Given the description of an element on the screen output the (x, y) to click on. 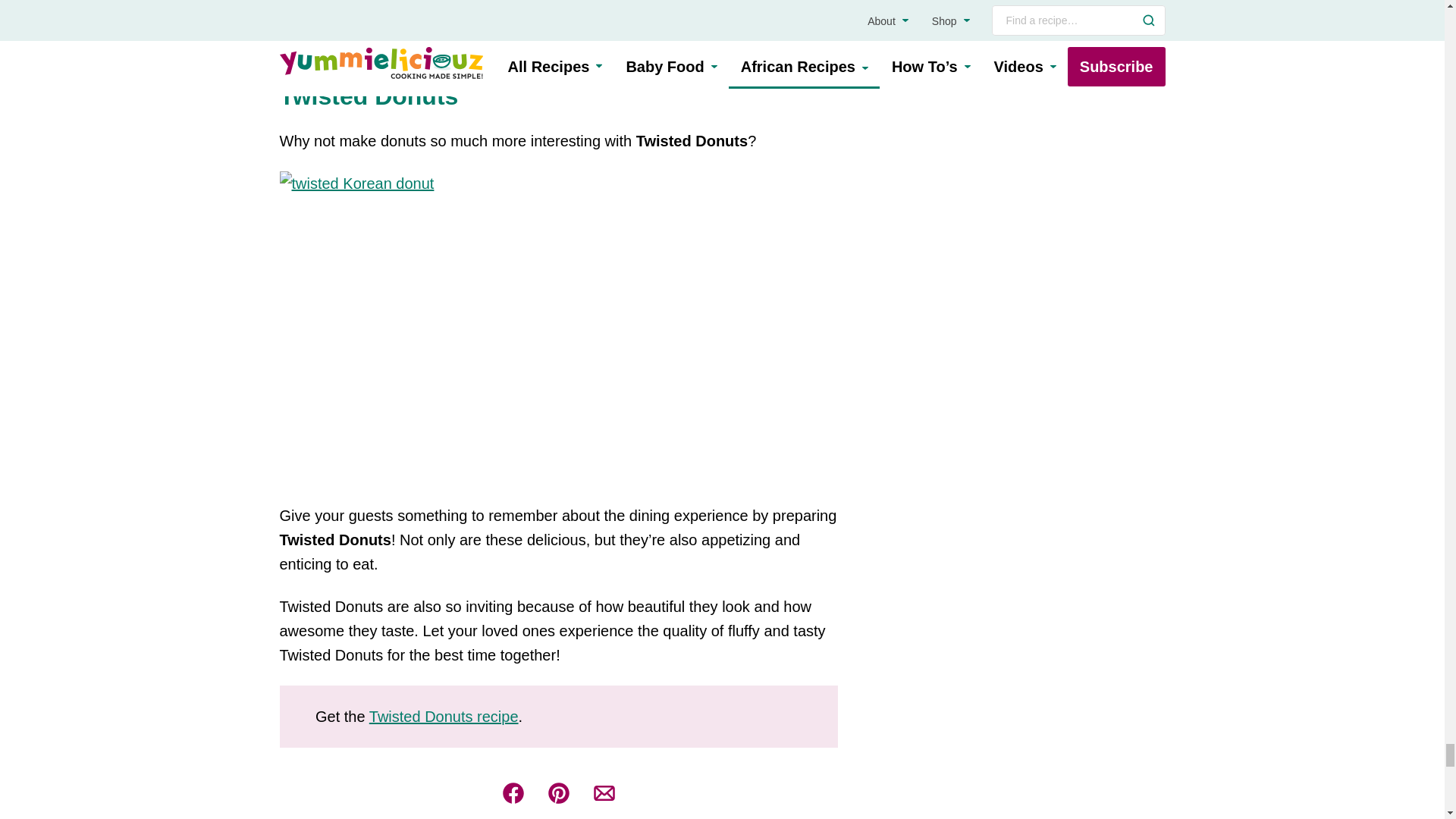
Share on Facebook (512, 792)
Share on Pinterest (557, 792)
Share via Email (603, 792)
